Given the description of an element on the screen output the (x, y) to click on. 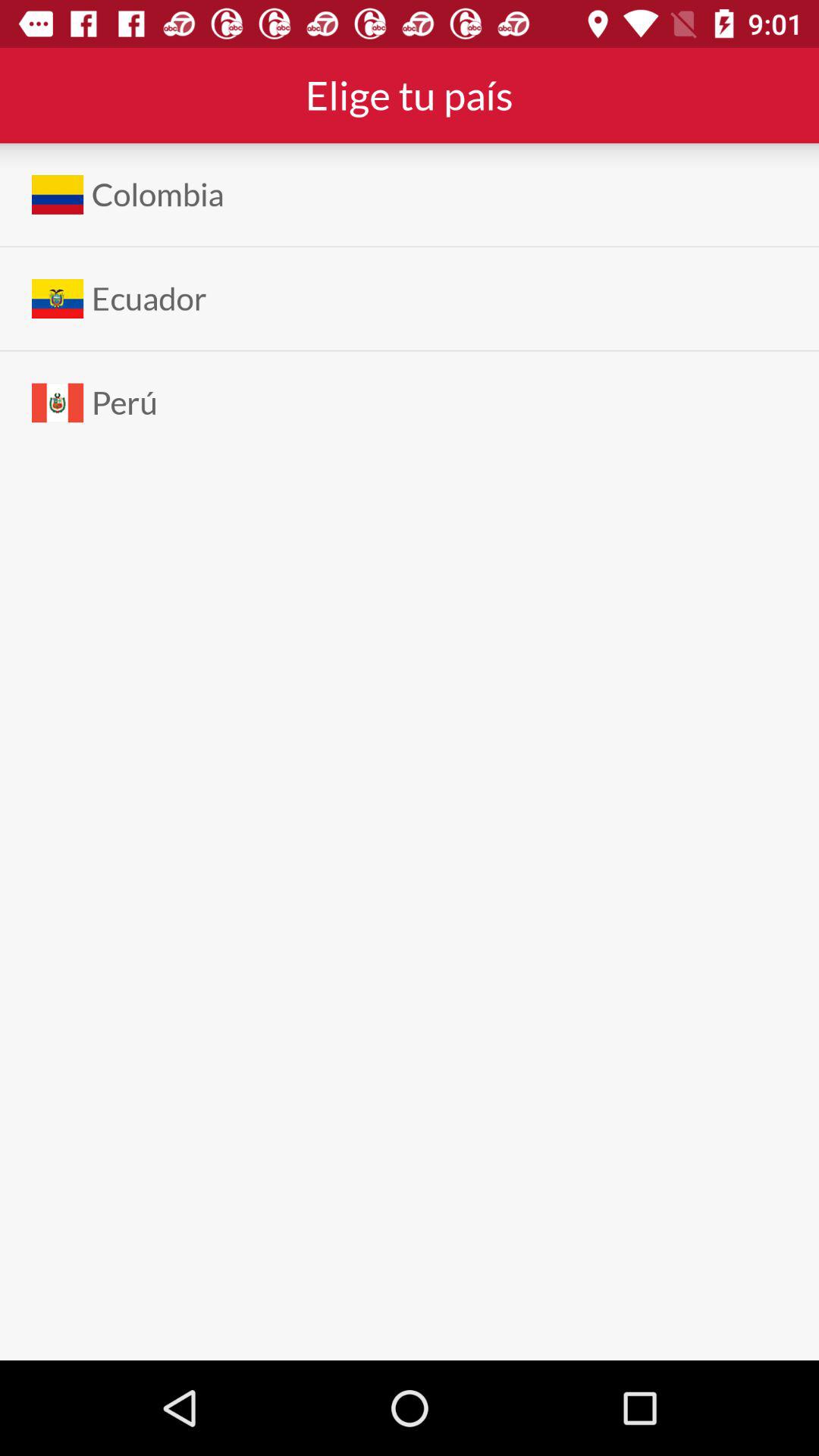
turn off the colombia app (157, 194)
